Given the description of an element on the screen output the (x, y) to click on. 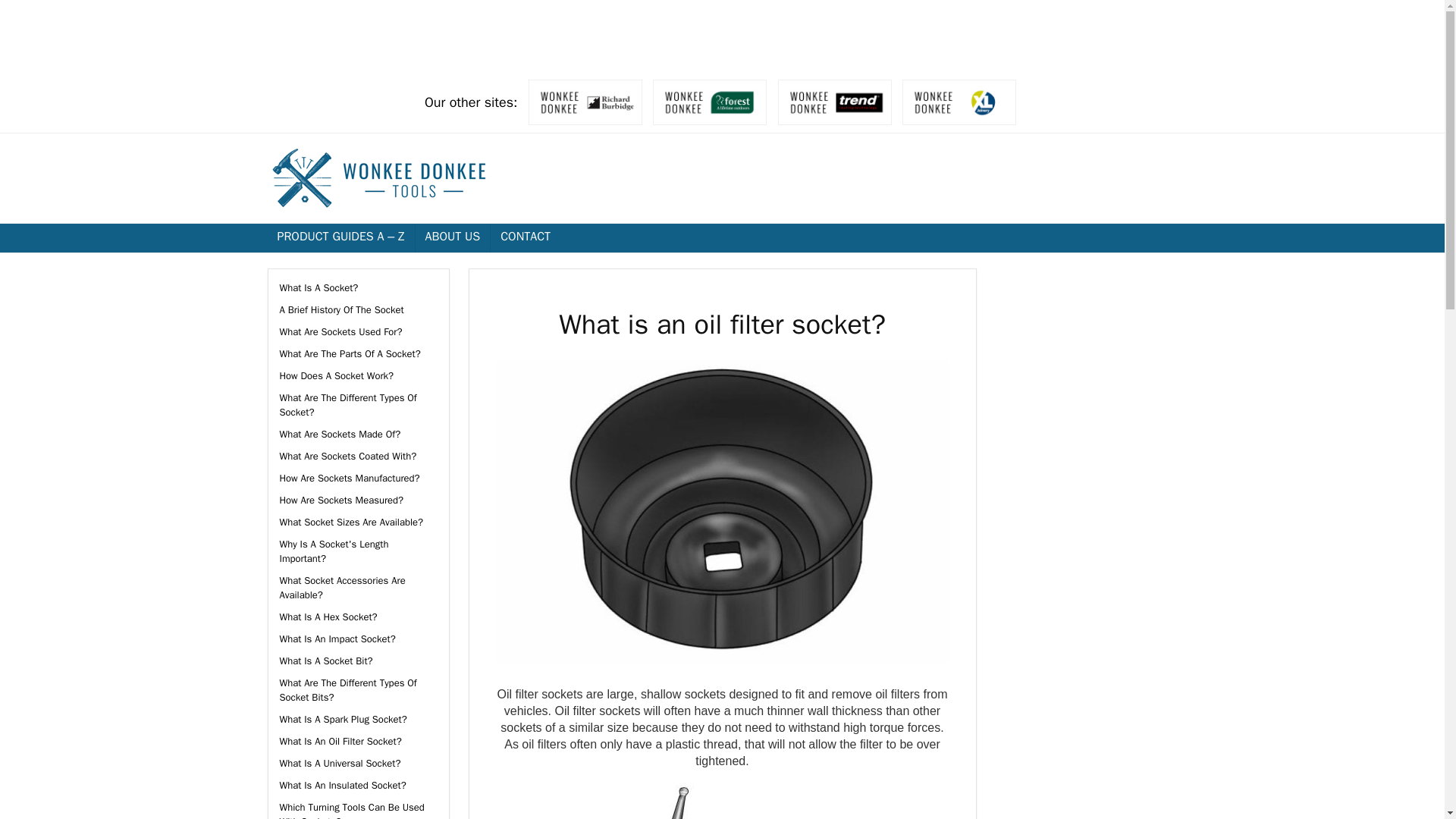
Advertisement (1110, 362)
What Socket Sizes Are Available? (351, 521)
What Is A Spark Plug Socket? (342, 718)
ABOUT US (452, 237)
A Brief History Of The Socket (341, 309)
What Is A Socket Bit? (325, 660)
What Is An Oil Filter Socket? (340, 740)
What Are The Different Types Of Socket Bits? (347, 689)
What Are Sockets Coated With? (347, 455)
How Are Sockets Measured? (341, 499)
What Is An Impact Socket? (336, 638)
Which Turning Tools Can Be Used With Sockets? (351, 809)
What Is A Socket? (318, 287)
What Are The Parts Of A Socket? (349, 353)
What Socket Accessories Are Available? (341, 587)
